Given the description of an element on the screen output the (x, y) to click on. 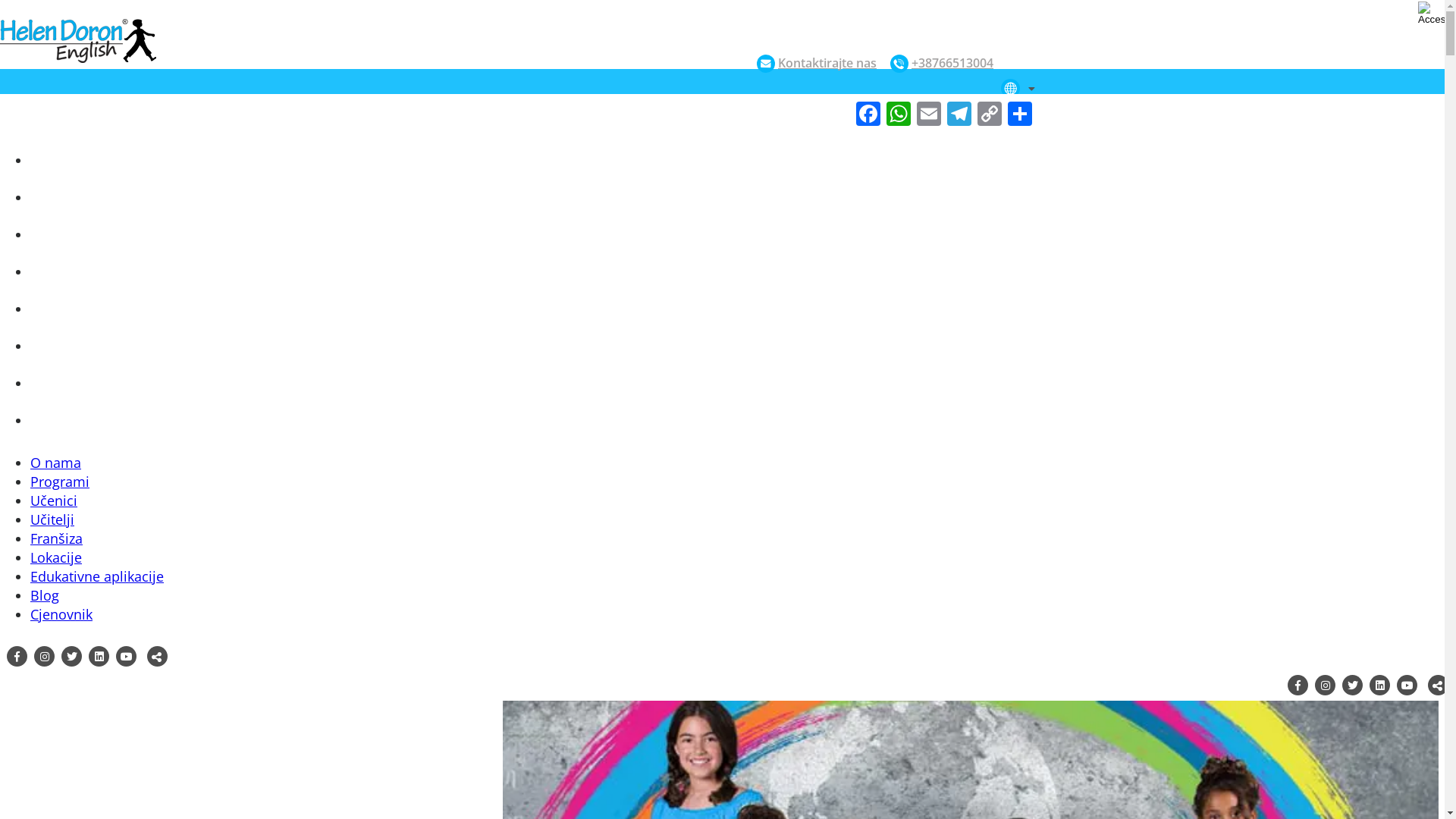
O NAMA Element type: text (59, 123)
click here to go to our twitter page Element type: hover (1352, 684)
click here to go to youtube page Element type: hover (1406, 684)
Click here to go to open share optons Element type: hover (1437, 684)
click here to go to our twitter page Element type: hover (71, 656)
click here to go to instagram page Element type: hover (44, 656)
Copy Link Element type: text (989, 114)
BLOG Element type: text (52, 383)
click here to go to instagram page Element type: hover (1324, 684)
Email Element type: text (928, 114)
Accessibility Helper sidebar Element type: hover (1431, 13)
WhatsApp Element type: text (898, 114)
Blog Element type: text (44, 595)
Programi Element type: text (59, 481)
click here to go to linkedin page Element type: hover (98, 656)
click here to go to facebook page Element type: hover (1297, 684)
Telegram Element type: text (959, 114)
Kontaktirajte nas Element type: text (816, 62)
Cjenovnik Element type: text (61, 614)
+38766513004 Element type: text (941, 62)
click here to go to linkedin page Element type: hover (1379, 684)
Click here to go to open share optons Element type: hover (157, 656)
click here to go to facebook page Element type: hover (16, 656)
Lokacije Element type: text (55, 557)
click here to go to youtube page Element type: hover (126, 656)
Edukativne aplikacije Element type: text (96, 576)
PROGRAMI Element type: text (65, 160)
EDUKATIVNE APLIKACIJE Element type: text (99, 346)
Facebook Element type: text (868, 114)
LOKACIJE Element type: text (61, 309)
Share Element type: text (1019, 114)
O nama Element type: text (55, 462)
CJENOVNIK Element type: text (66, 420)
